Given the description of an element on the screen output the (x, y) to click on. 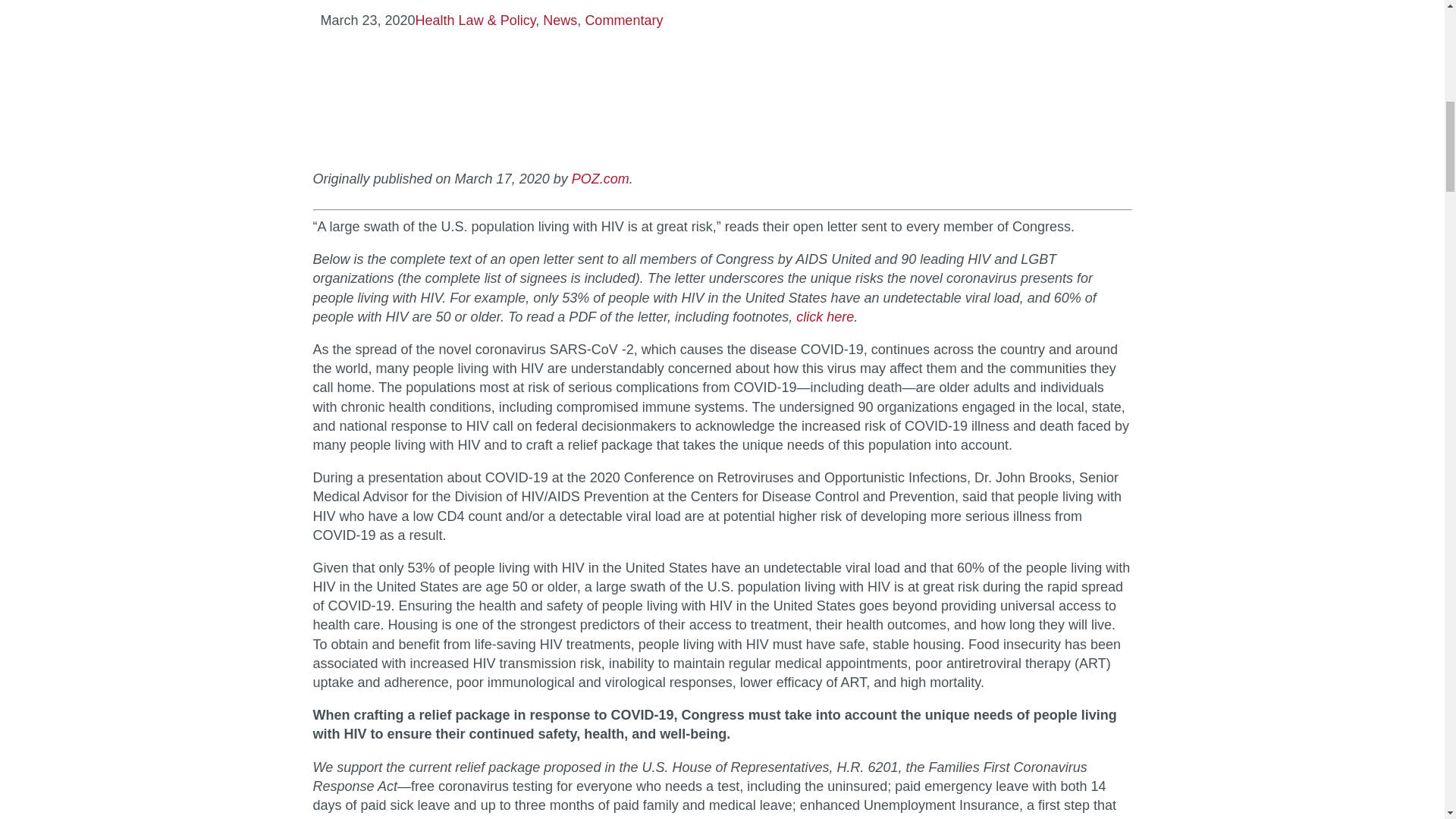
POZ.com (600, 178)
Commentary (623, 19)
News (559, 19)
click here (824, 316)
